Given the description of an element on the screen output the (x, y) to click on. 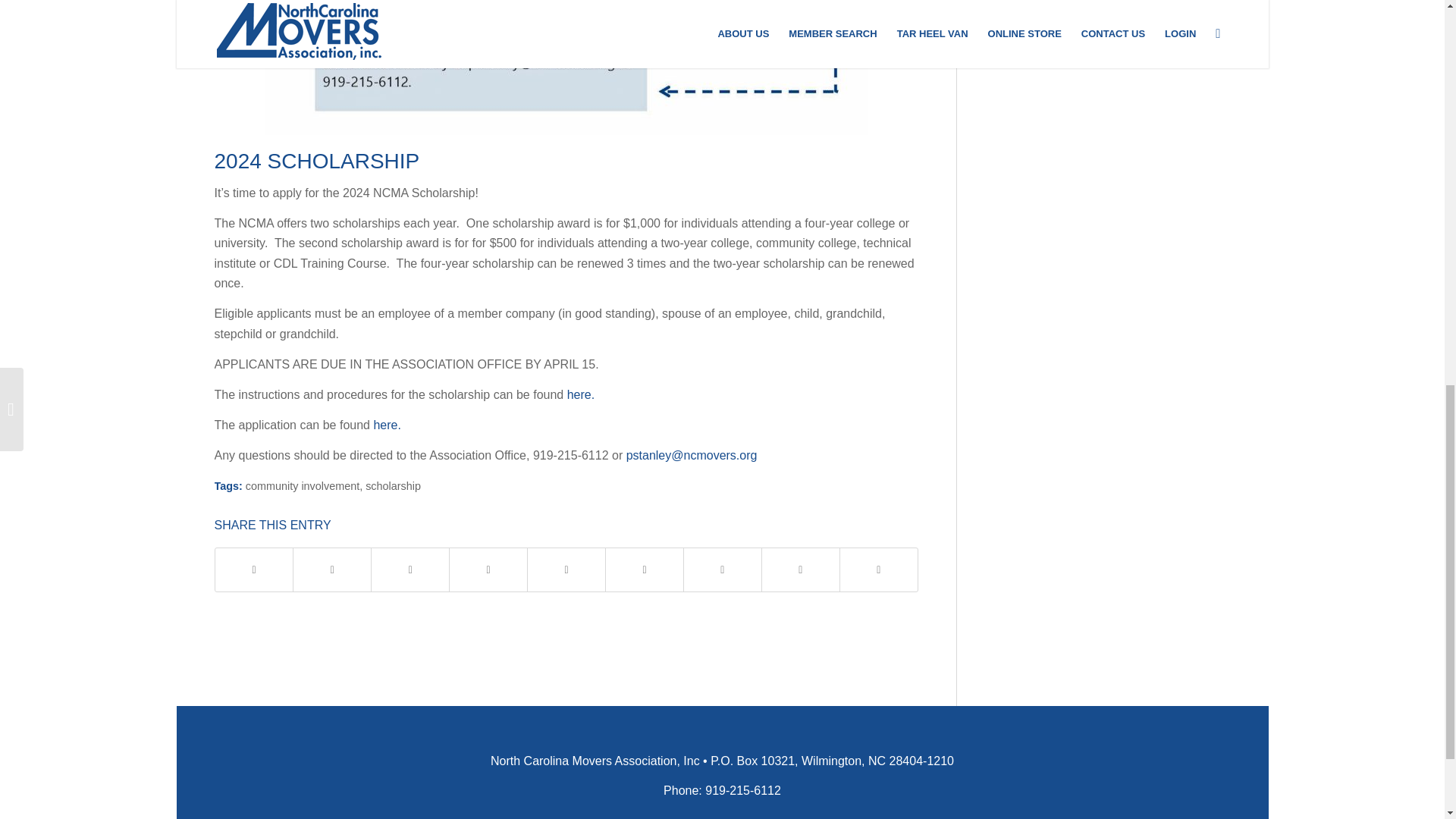
community involvement (302, 485)
here. (580, 394)
here. (386, 424)
scholarship (392, 485)
